Given the description of an element on the screen output the (x, y) to click on. 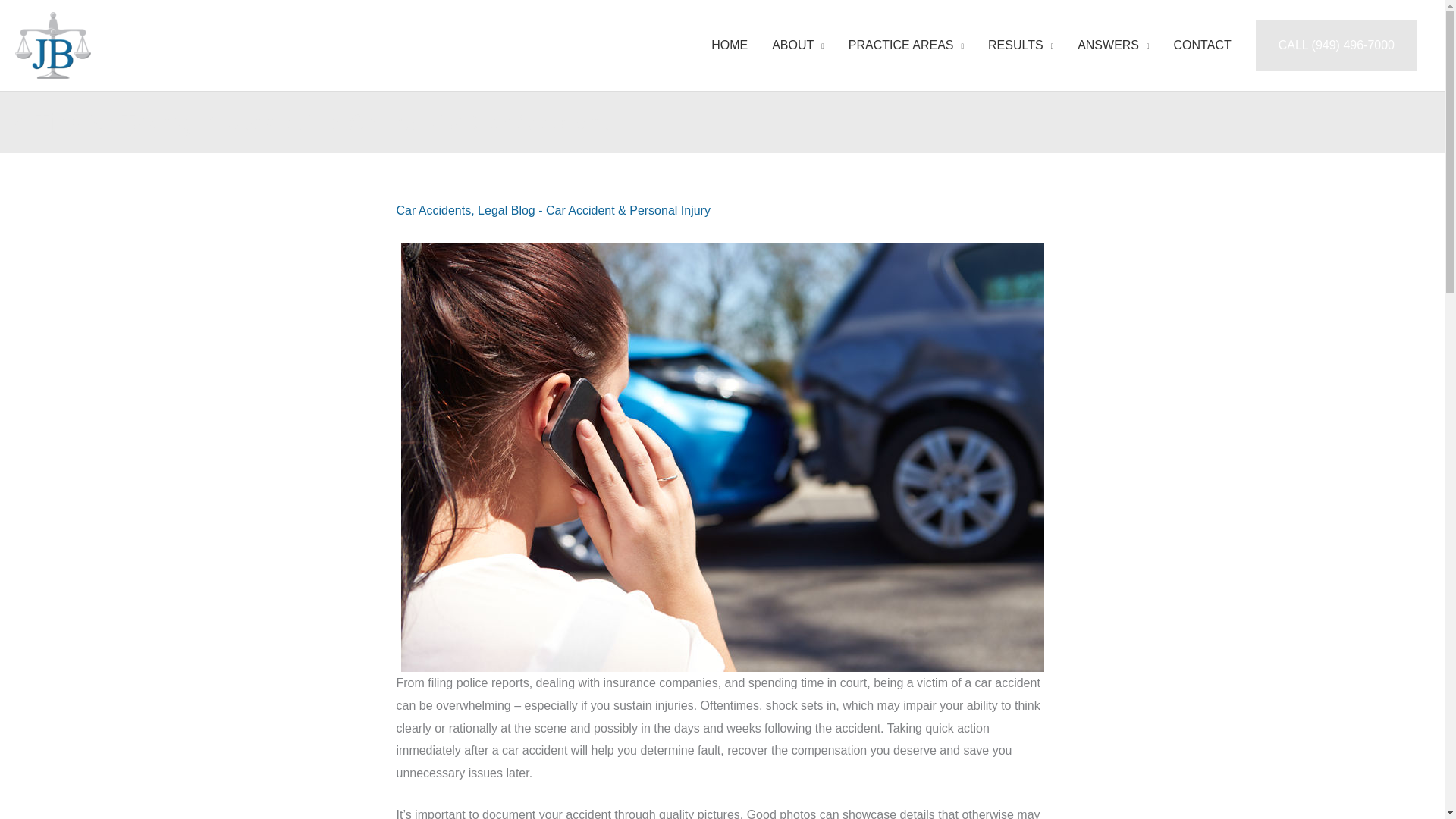
PRACTICE AREAS (905, 45)
ANSWERS (1112, 45)
RESULTS (1020, 45)
Car Accidents (433, 210)
CONTACT (1202, 45)
